Given the description of an element on the screen output the (x, y) to click on. 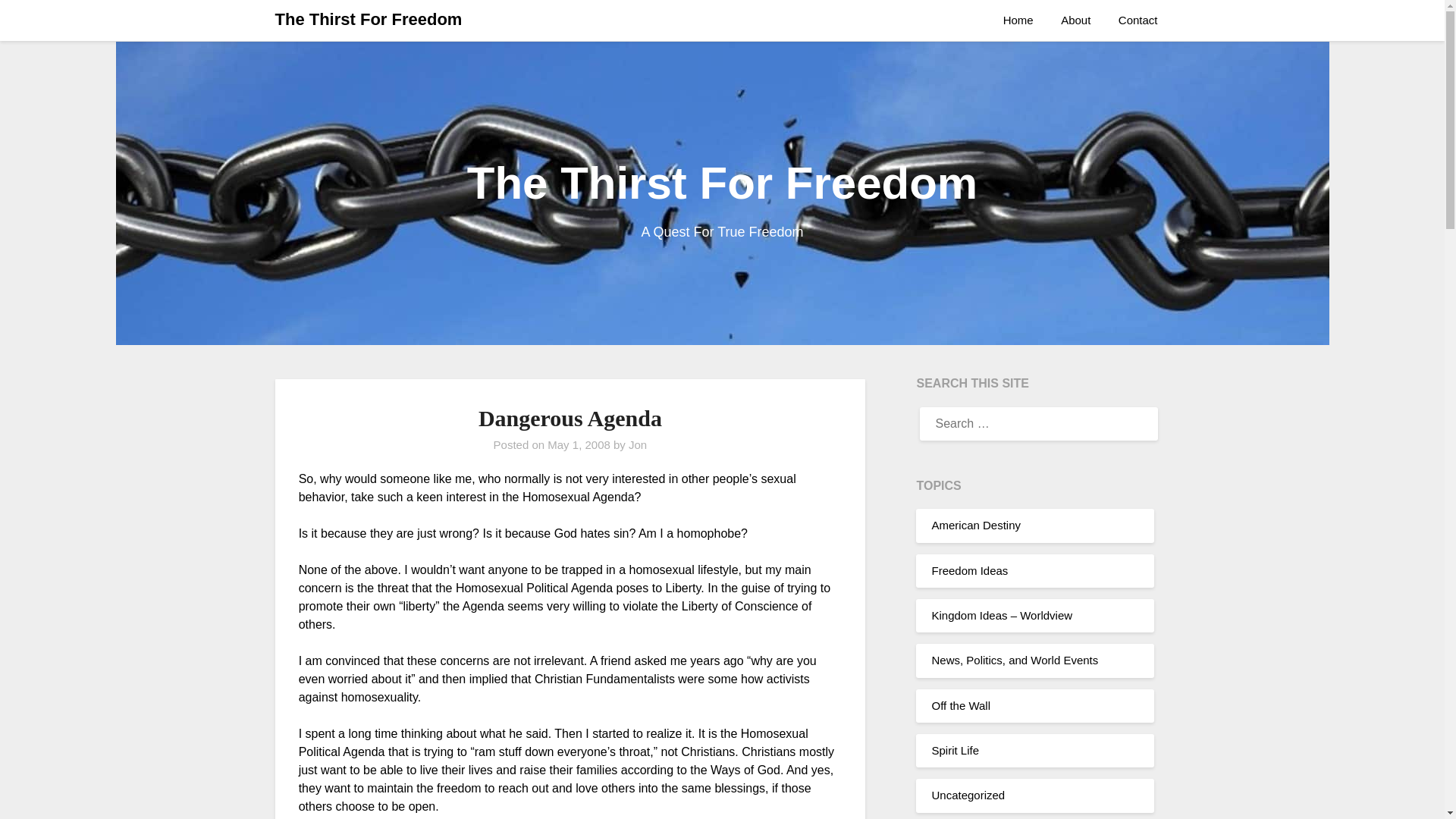
Off the Wall (960, 705)
American Destiny (975, 524)
Search (38, 22)
News, Politics, and World Events (1014, 659)
Contact (1138, 20)
The Thirst For Freedom (368, 19)
May 1, 2008 (578, 444)
Home (1024, 20)
Freedom Ideas (969, 570)
Spirit Life (954, 749)
